Given the description of an element on the screen output the (x, y) to click on. 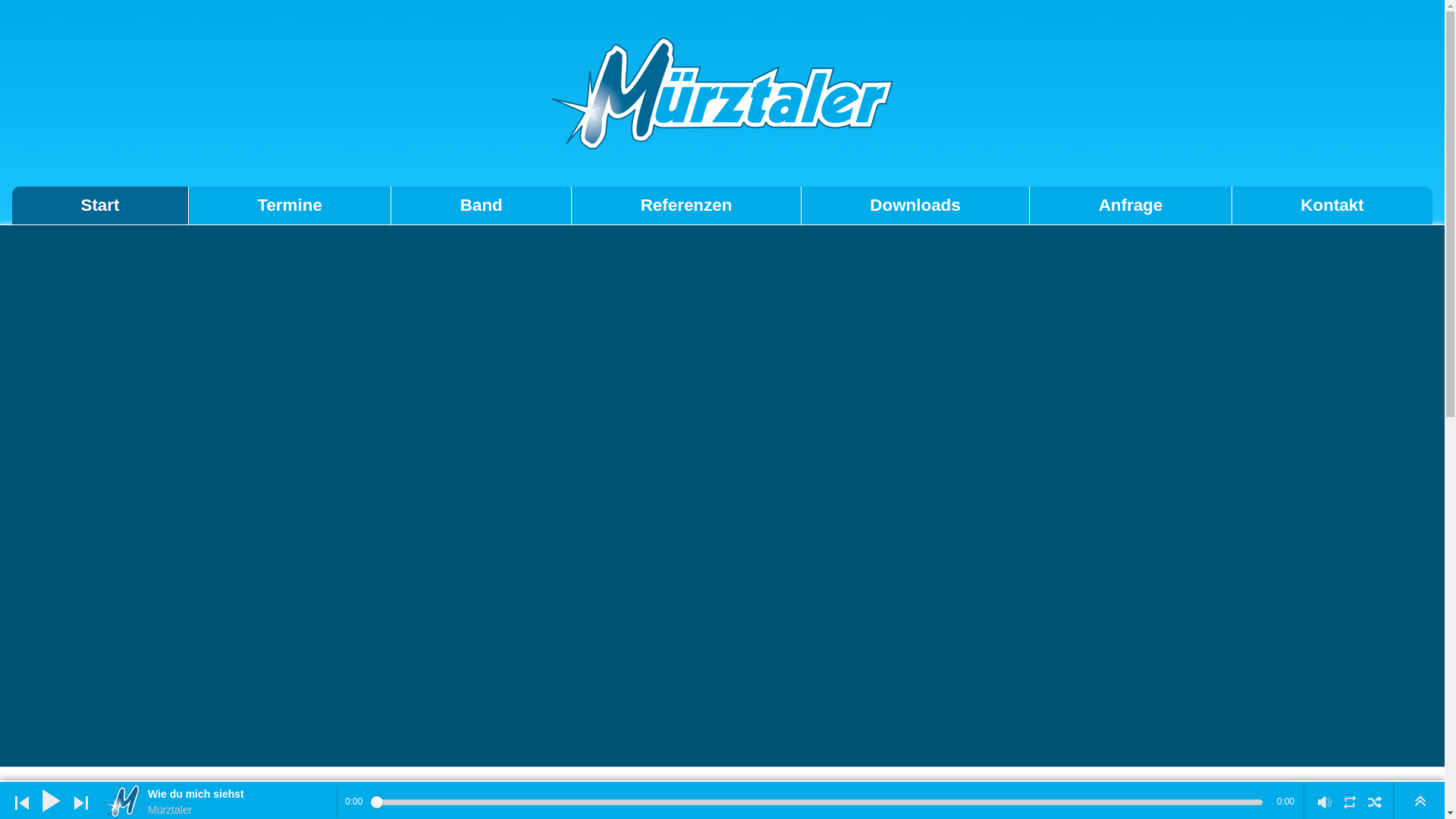
Click to play music Element type: hover (51, 800)
Termine Element type: text (289, 205)
Kontakt Element type: text (1332, 205)
Anfrage Element type: text (1130, 205)
Wie du mich siehst Element type: text (239, 794)
Band Element type: text (481, 205)
Downloads Element type: text (915, 205)
Start Element type: text (100, 205)
Referenzen Element type: text (686, 205)
